Given the description of an element on the screen output the (x, y) to click on. 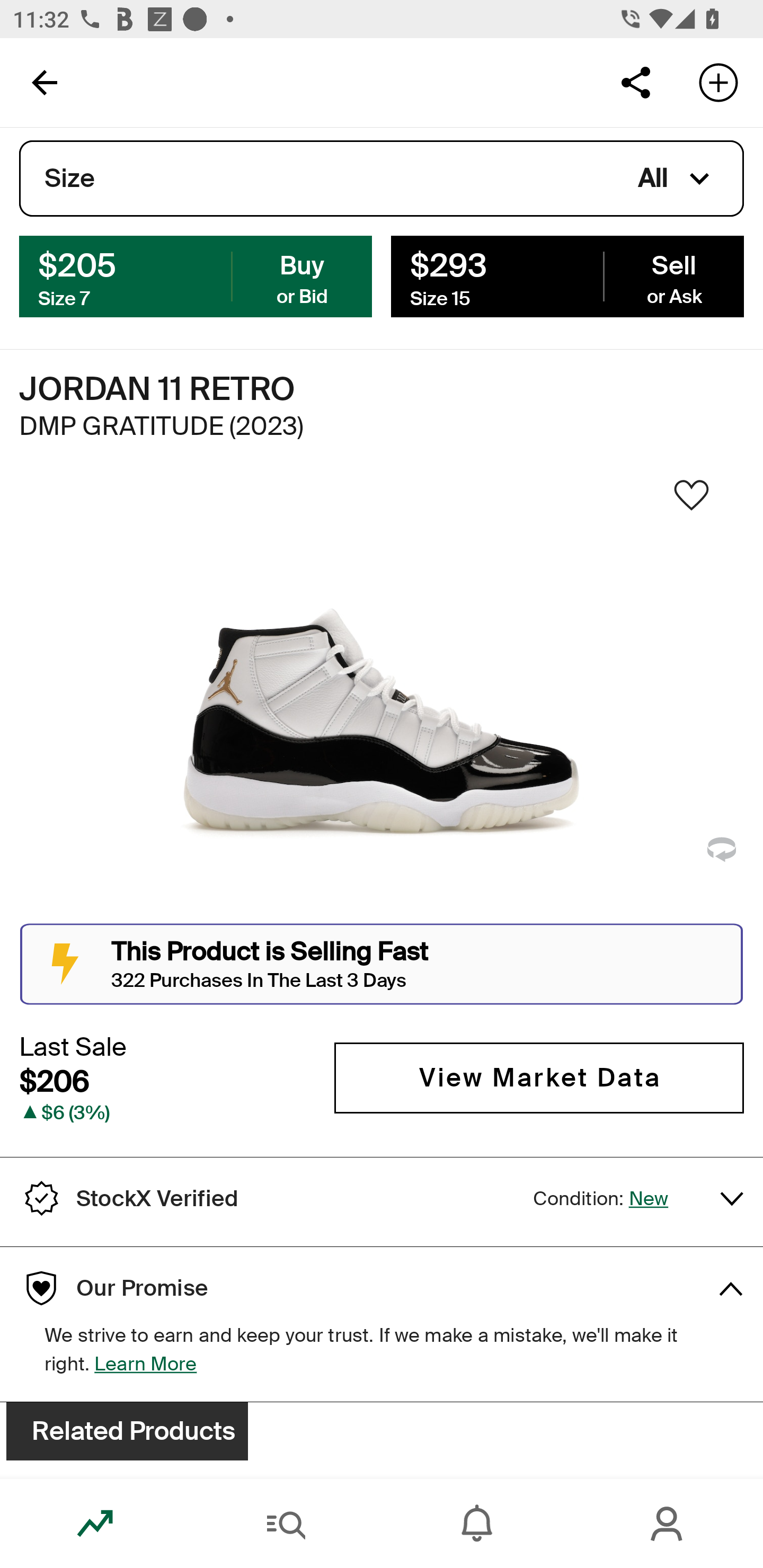
Share (635, 81)
Add (718, 81)
Size All (381, 178)
$205 Buy Size 7 or Bid (195, 275)
$293 Sell Size 15 or Ask (566, 275)
Sneaker Image (381, 699)
View Market Data (538, 1077)
Search (285, 1523)
Inbox (476, 1523)
Account (667, 1523)
